Given the description of an element on the screen output the (x, y) to click on. 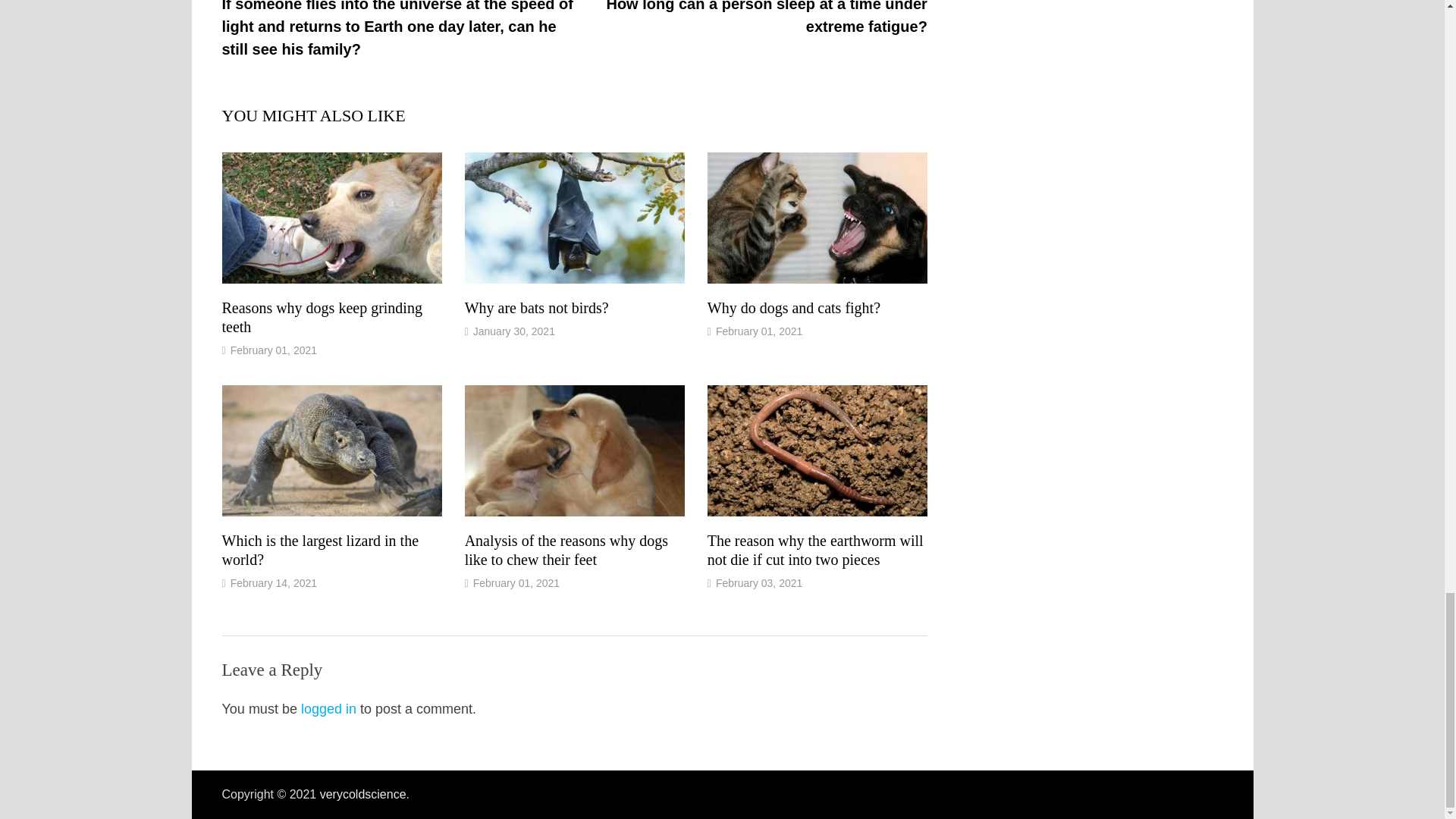
Why are bats not birds? (536, 307)
Analysis of the reasons why dogs like to chew their feet (566, 550)
Why do dogs and cats fight? (793, 307)
February 14, 2021 (273, 582)
February 01, 2021 (759, 331)
Reasons why dogs keep grinding teeth (321, 316)
Which is the largest lizard in the world? (320, 550)
Which is the largest lizard in the world? (320, 550)
